Given the description of an element on the screen output the (x, y) to click on. 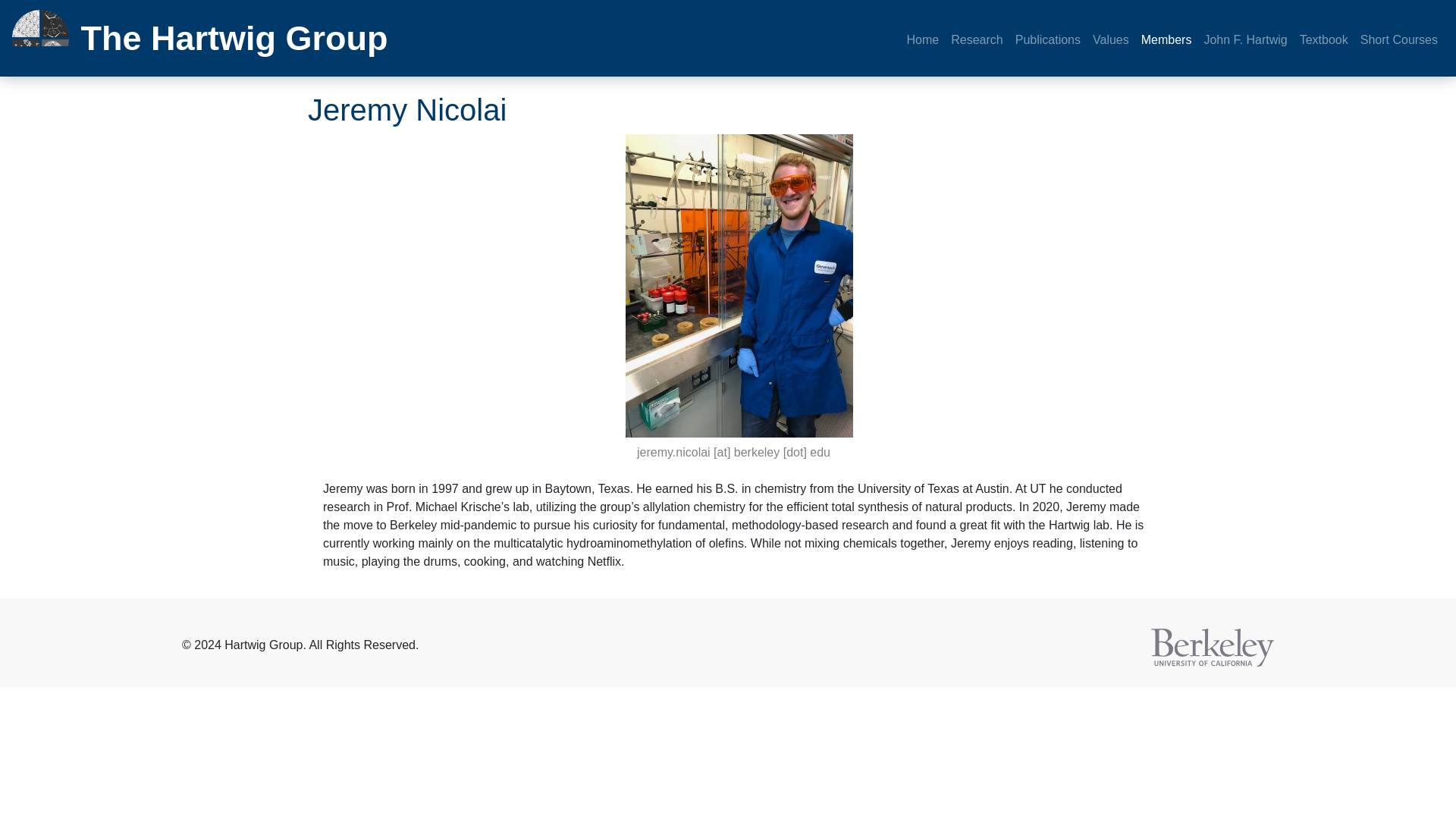
Short Courses (1399, 40)
Members (1166, 40)
John F. Hartwig (1244, 40)
The Hartwig Group (171, 37)
Research (976, 40)
Mechanistically driven discovery of catalytic reactions (39, 37)
Textbook (1324, 40)
Values (1110, 40)
Home (922, 40)
Publications (1047, 40)
